Given the description of an element on the screen output the (x, y) to click on. 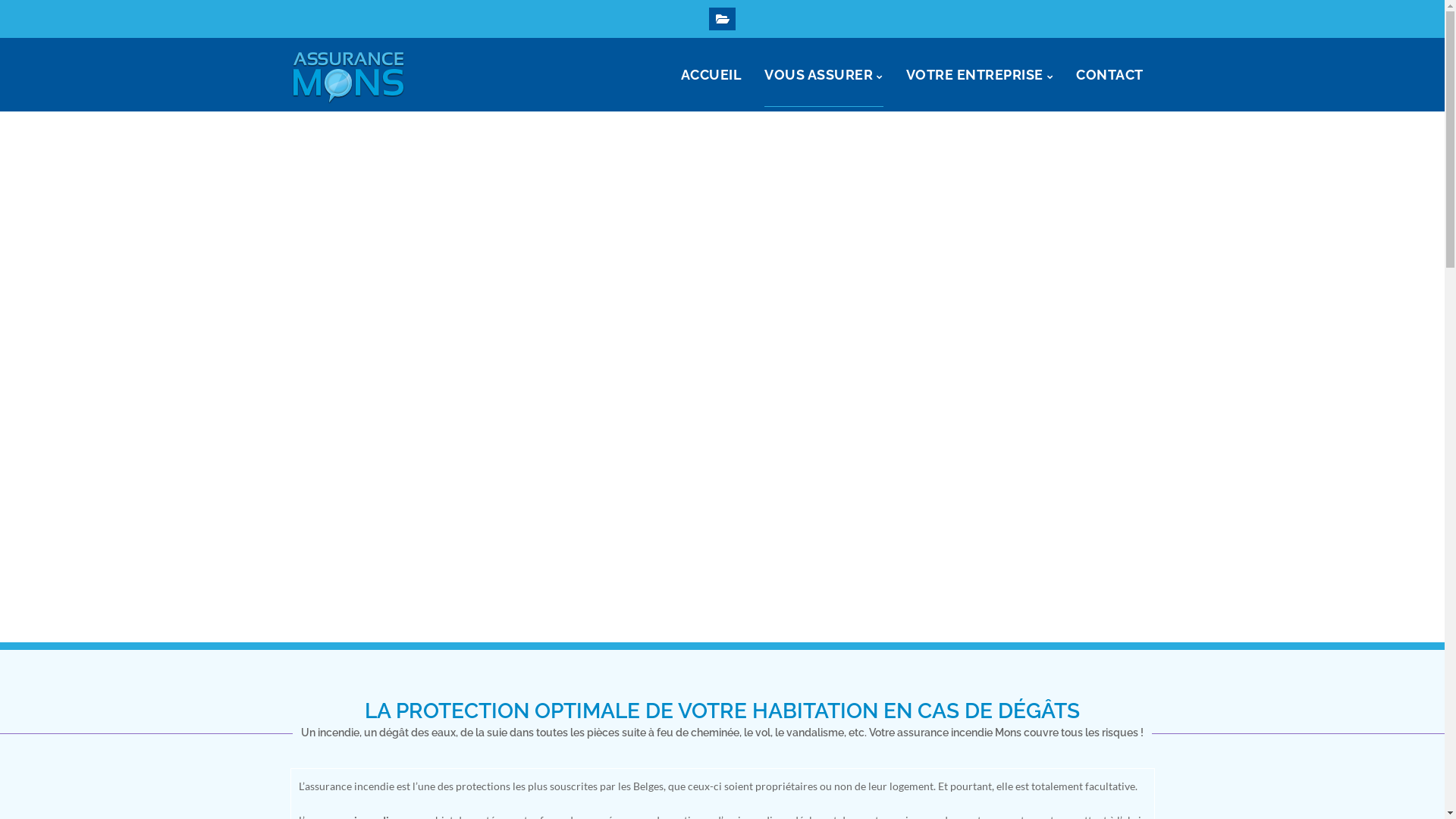
VOUS ASSURER Element type: text (823, 74)
VOTRE ENTREPRISE Element type: text (979, 74)
ACCUEIL Element type: text (711, 74)
Votre dossier Element type: hover (722, 18)
CONTACT Element type: text (1109, 74)
